Given the description of an element on the screen output the (x, y) to click on. 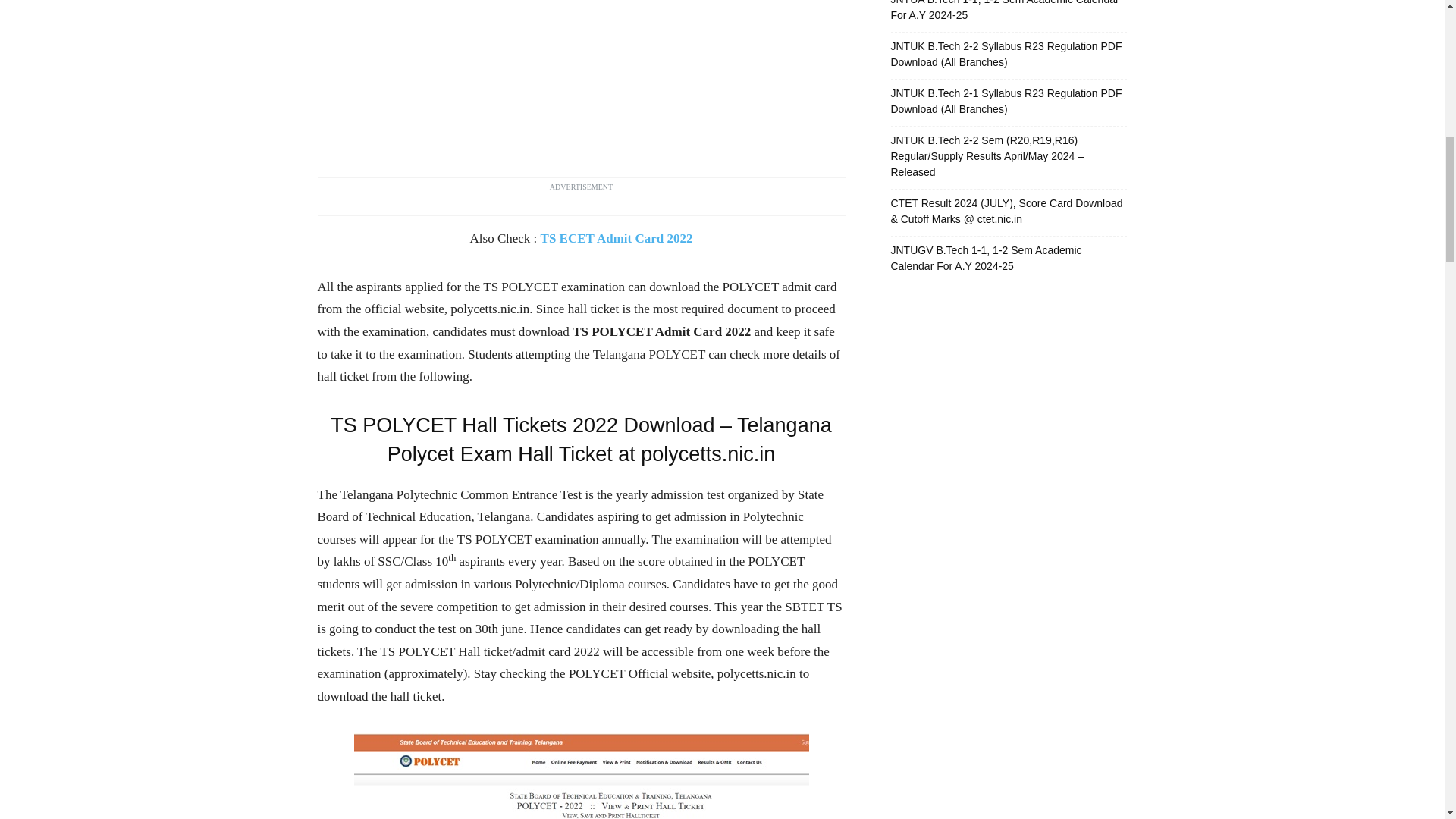
Advertisement (580, 83)
